Given the description of an element on the screen output the (x, y) to click on. 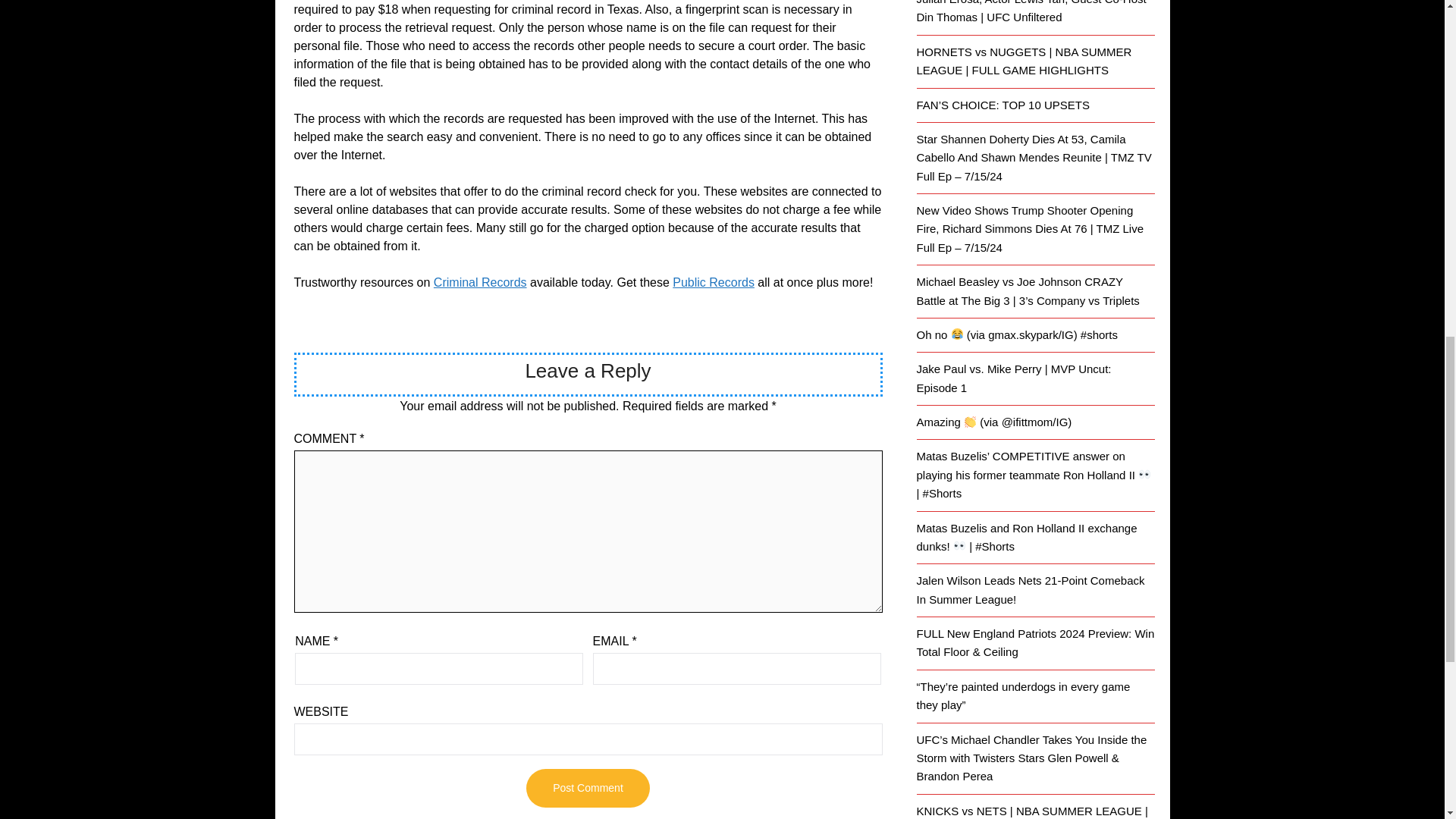
Post Comment (587, 788)
Post Comment (587, 788)
Public Records (713, 282)
Criminal Records (480, 282)
Jalen Wilson Leads Nets 21-Point Comeback In Summer League! (1029, 589)
